Given the description of an element on the screen output the (x, y) to click on. 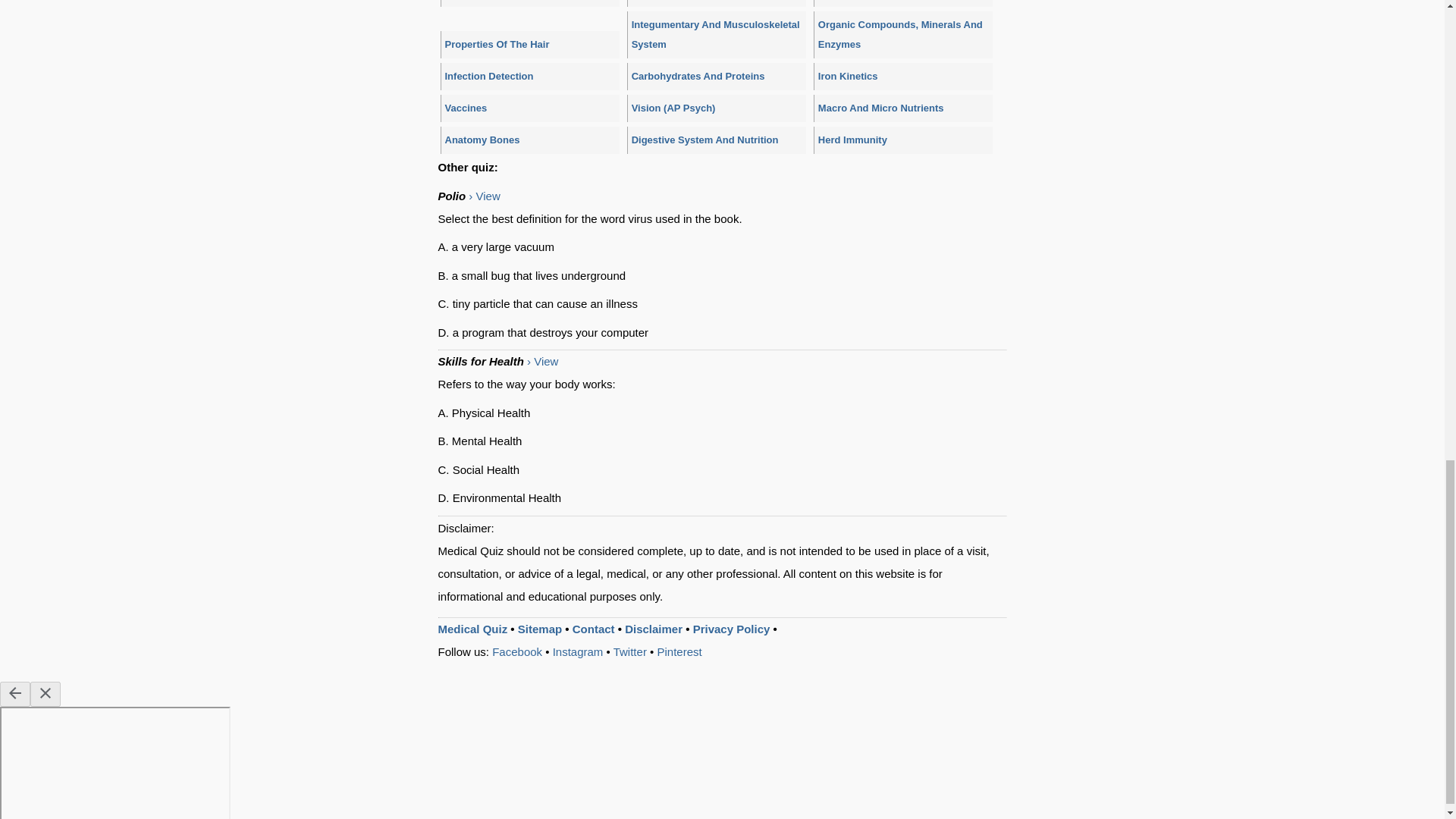
Iron Kinetics (902, 76)
Facebook (516, 651)
Herd Immunity (902, 139)
Human Eye And Colourful World (716, 3)
Privacy Policy (731, 628)
Macro And Micro Nutrients (902, 108)
Infection Detection (528, 76)
Sitemap (540, 628)
Disclaimer (653, 628)
Integumentary And Musculoskeletal System (716, 34)
Medical Quiz (473, 628)
Organic Compounds, Minerals And Enzymes (902, 34)
Instagram (578, 651)
Pinterest (678, 651)
Homeostasis - Vision Correction (528, 3)
